Given the description of an element on the screen output the (x, y) to click on. 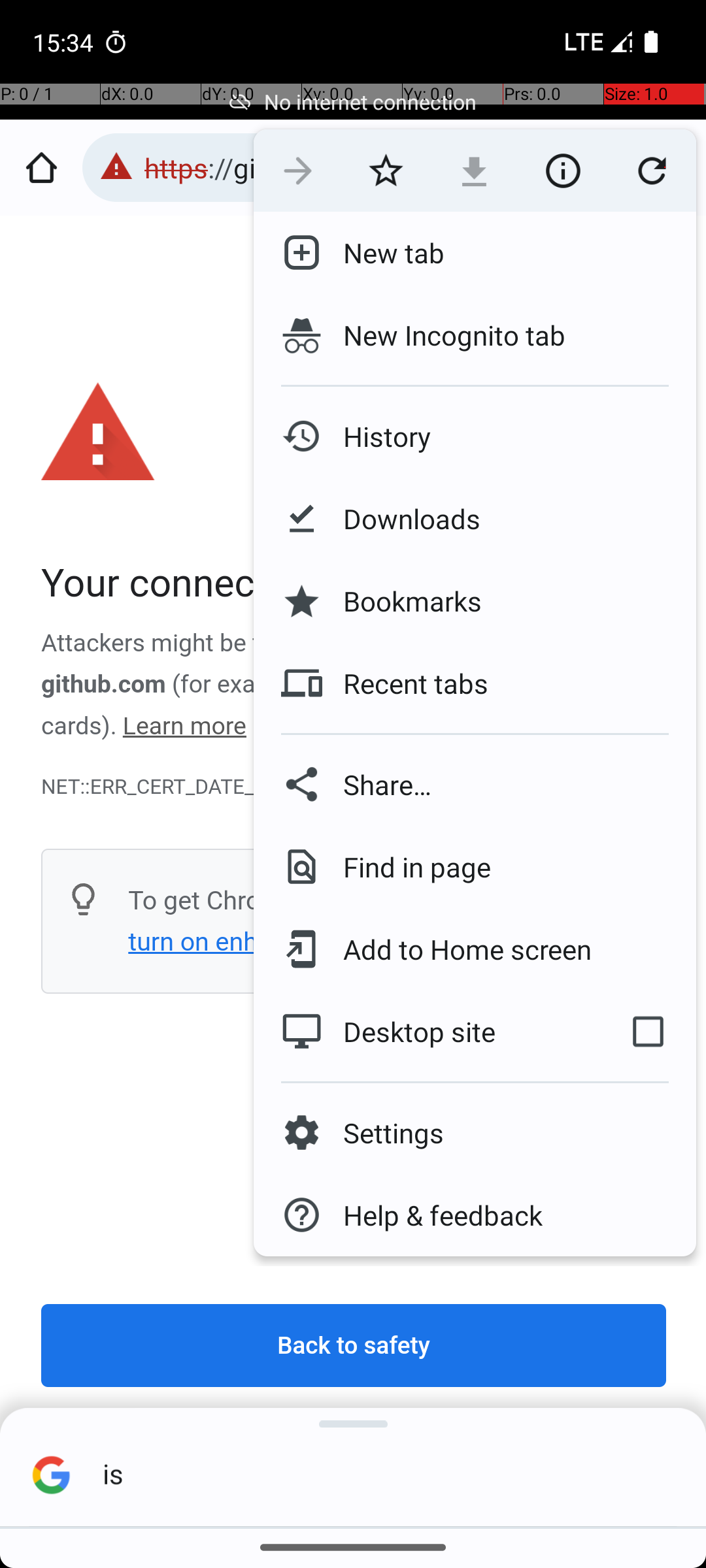
Forward Element type: android.widget.ImageButton (297, 170)
Bookmark Element type: android.widget.ImageButton (385, 170)
Page info Element type: android.widget.ImageButton (562, 170)
Refresh Element type: android.widget.ImageButton (651, 170)
Bookmarks Element type: android.widget.TextView (401, 600)
Recent tabs Element type: android.widget.TextView (405, 683)
Share… Element type: android.widget.TextView (474, 784)
Add to Home screen Element type: android.widget.TextView (457, 949)
